Given the description of an element on the screen output the (x, y) to click on. 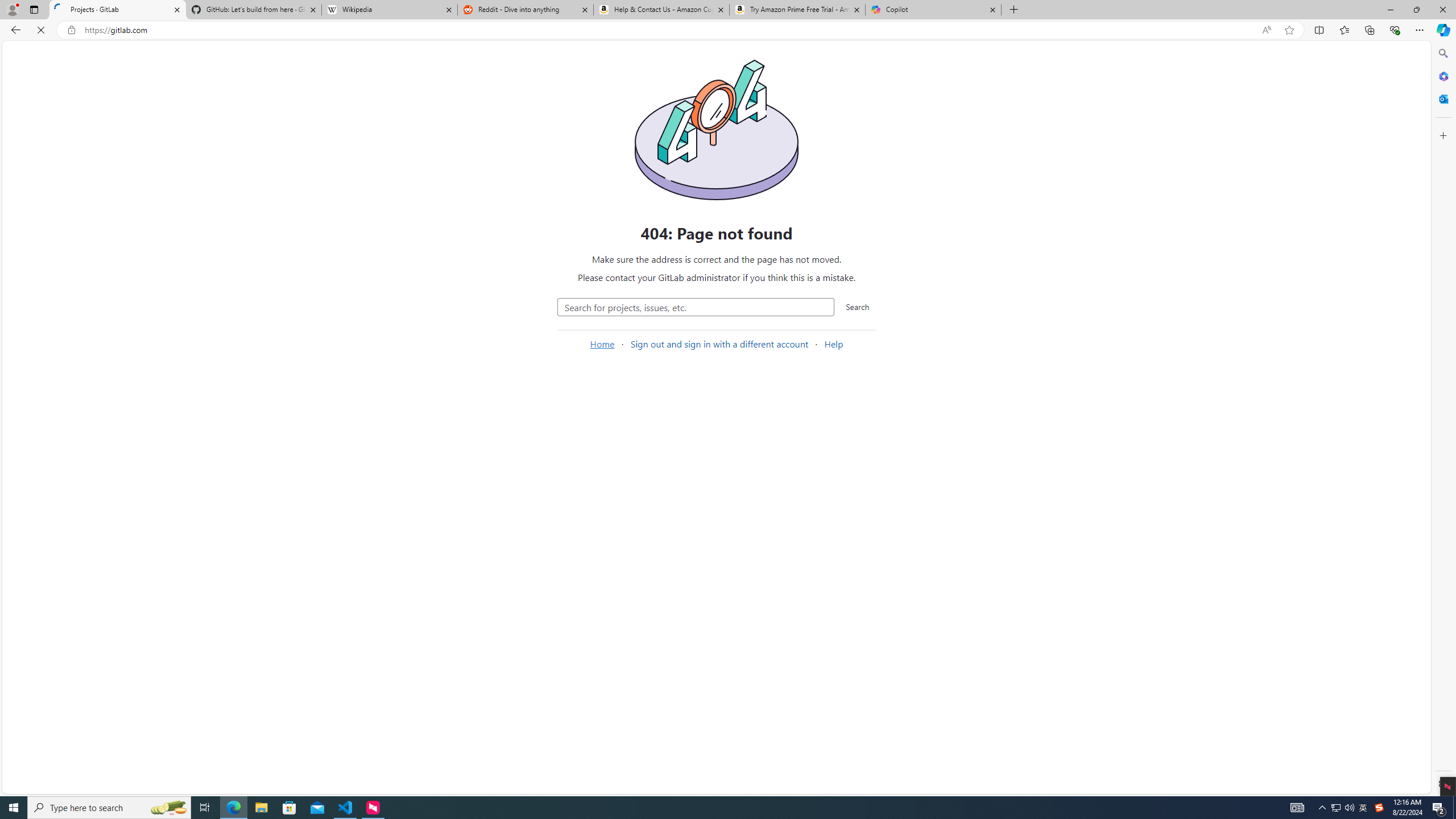
Yours 1 (458, 221)
Snippets (74, 262)
Activity (74, 282)
Explore projects (1049, 187)
Pending deletion (667, 221)
Groups (74, 165)
Start your free trial (519, 144)
Security (74, 359)
0 (1136, 288)
Skip to main content (13, 49)
To-Do List (74, 224)
